Given the description of an element on the screen output the (x, y) to click on. 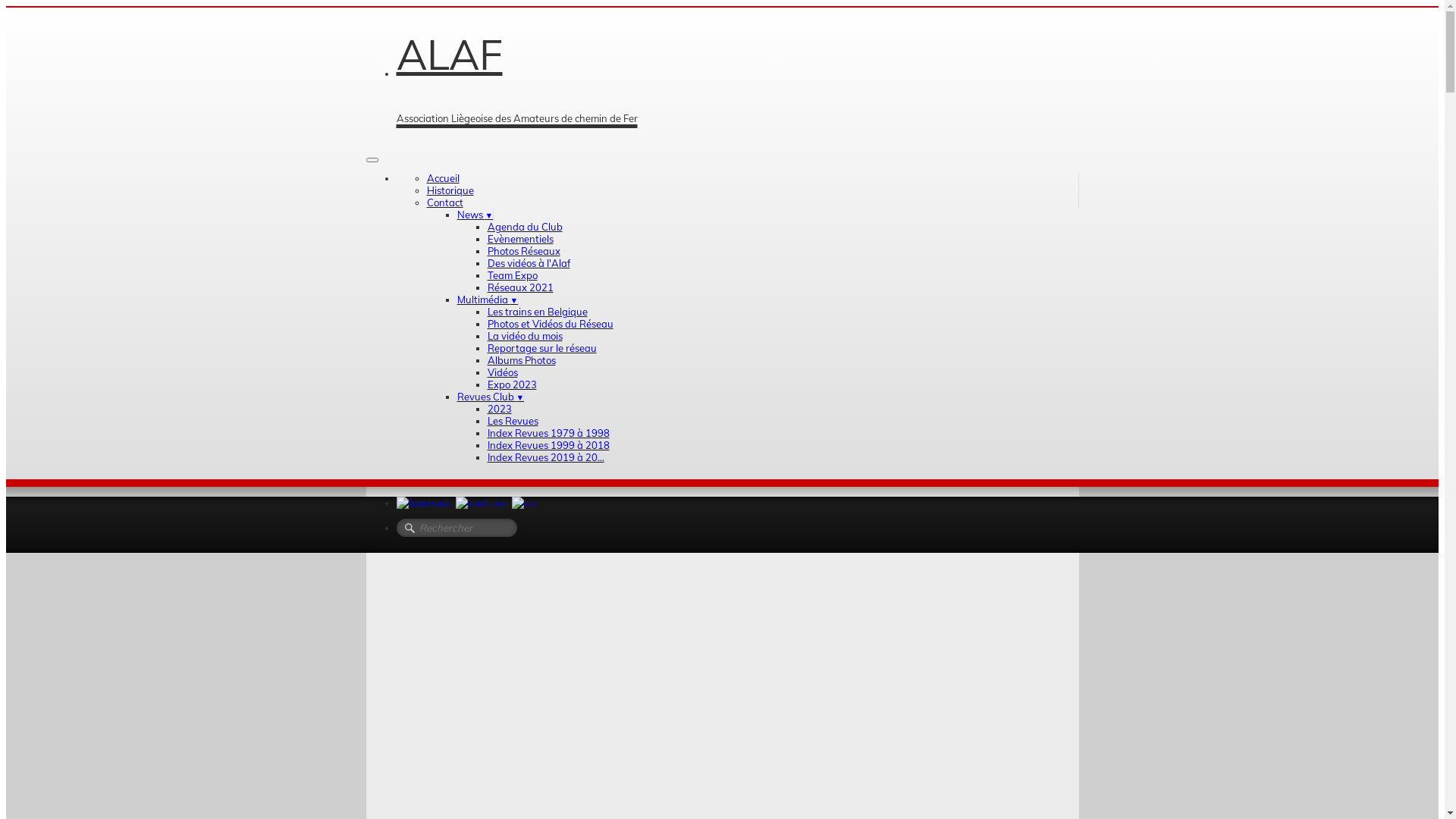
Historique Element type: text (449, 190)
Les Revues Element type: text (511, 420)
Accueil Element type: text (442, 178)
Albums Photos Element type: text (520, 360)
Expo 2023 Element type: text (511, 384)
2023 Element type: text (498, 408)
Les trains en Belgique Element type: text (536, 311)
Team Expo Element type: text (511, 275)
Agenda du Club Element type: text (523, 226)
Contact Element type: text (444, 202)
